Given the description of an element on the screen output the (x, y) to click on. 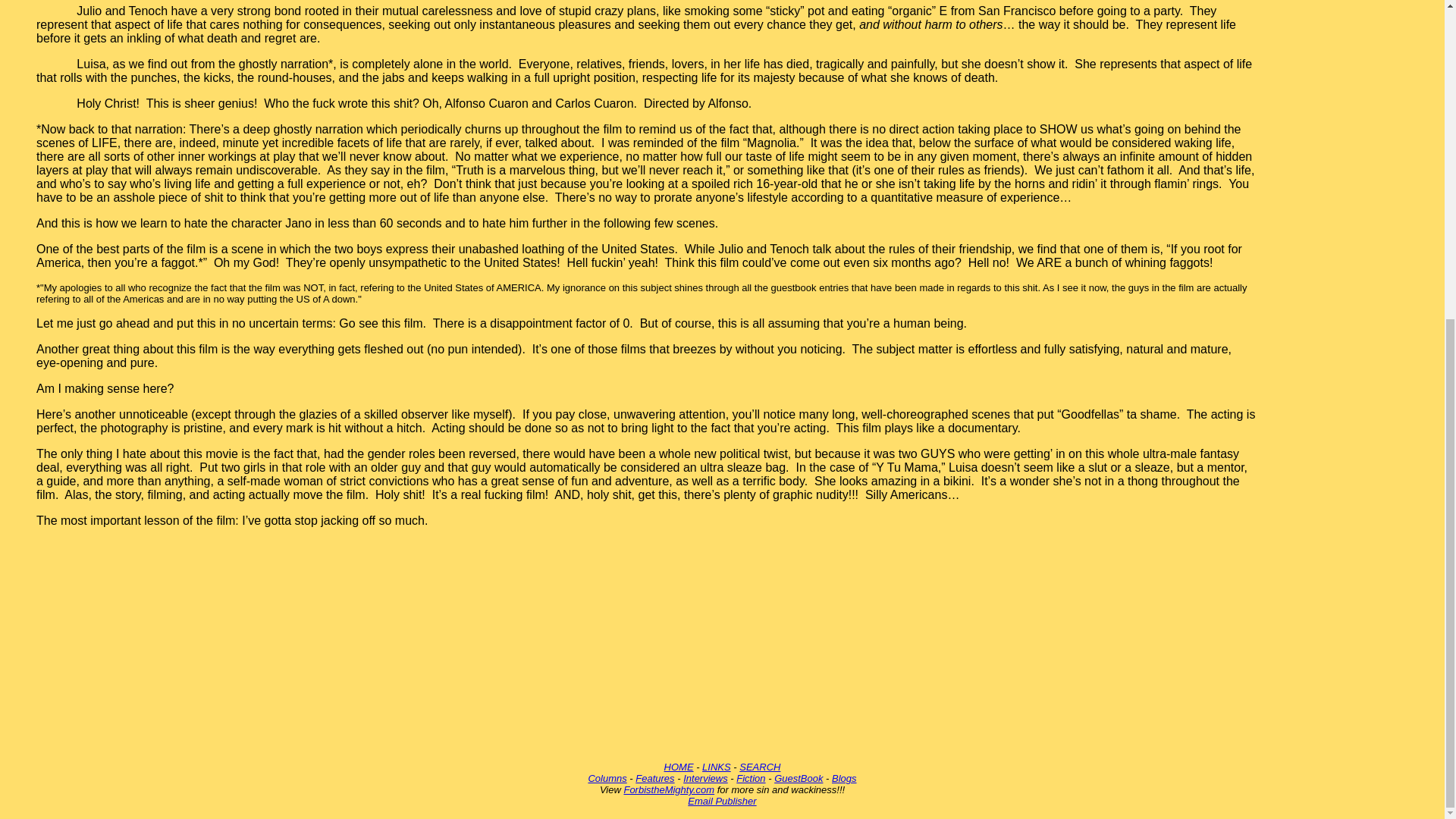
HOME (678, 767)
SEARCH (759, 767)
Features (654, 778)
Fiction (750, 778)
Email Publisher (721, 800)
LINKS (715, 767)
ForbistheMighty.com (668, 789)
Blogs (844, 778)
Columns (607, 778)
GuestBook (798, 778)
